Given the description of an element on the screen output the (x, y) to click on. 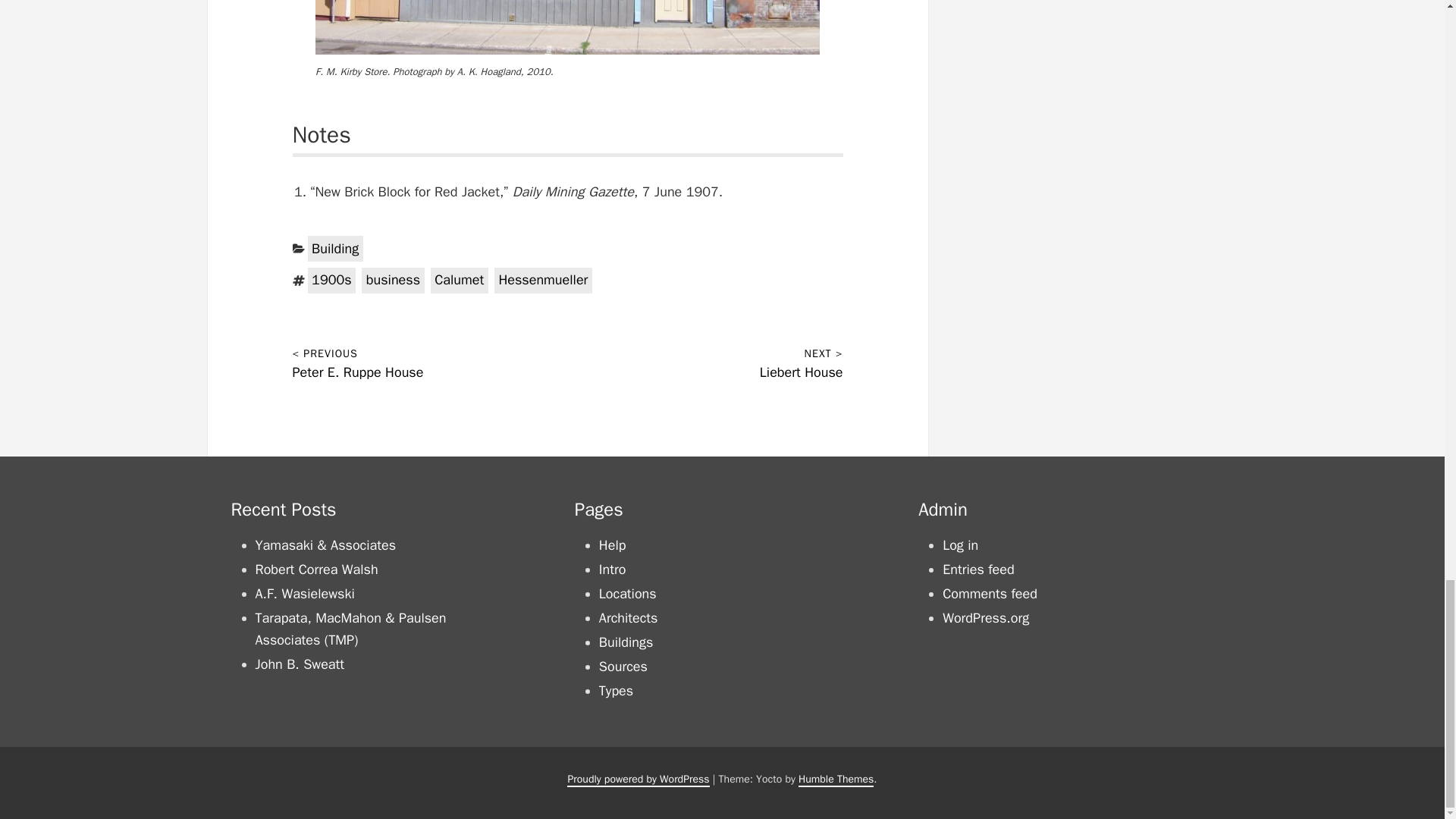
1900s (331, 280)
Calumet (458, 280)
Building (334, 248)
business (392, 280)
Hessenmueller (543, 280)
